Given the description of an element on the screen output the (x, y) to click on. 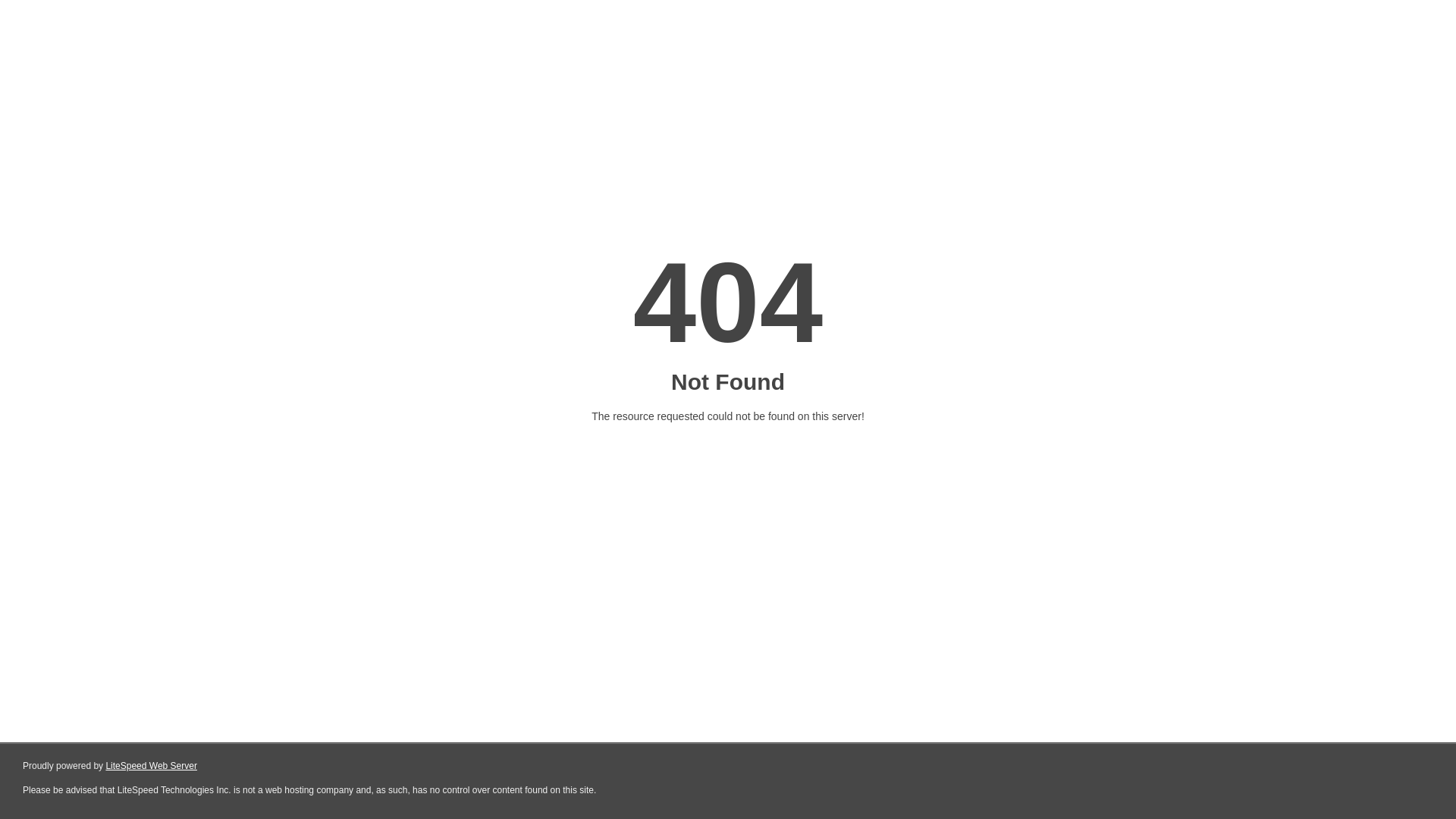
LiteSpeed Web Server Element type: text (151, 765)
